Given the description of an element on the screen output the (x, y) to click on. 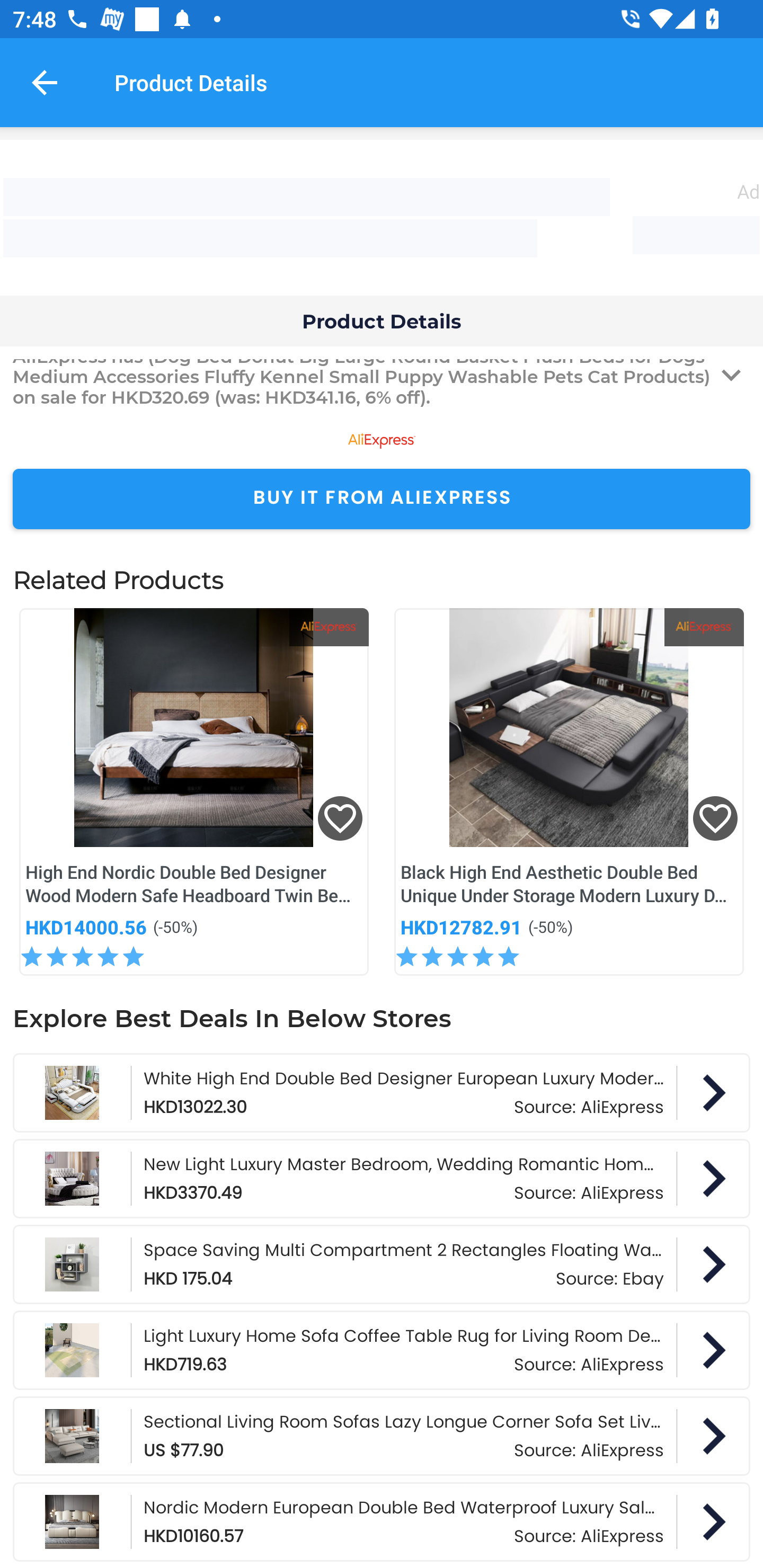
Navigate up (44, 82)
BUY IT FROM ALIEXPRESS (381, 499)
